Given the description of an element on the screen output the (x, y) to click on. 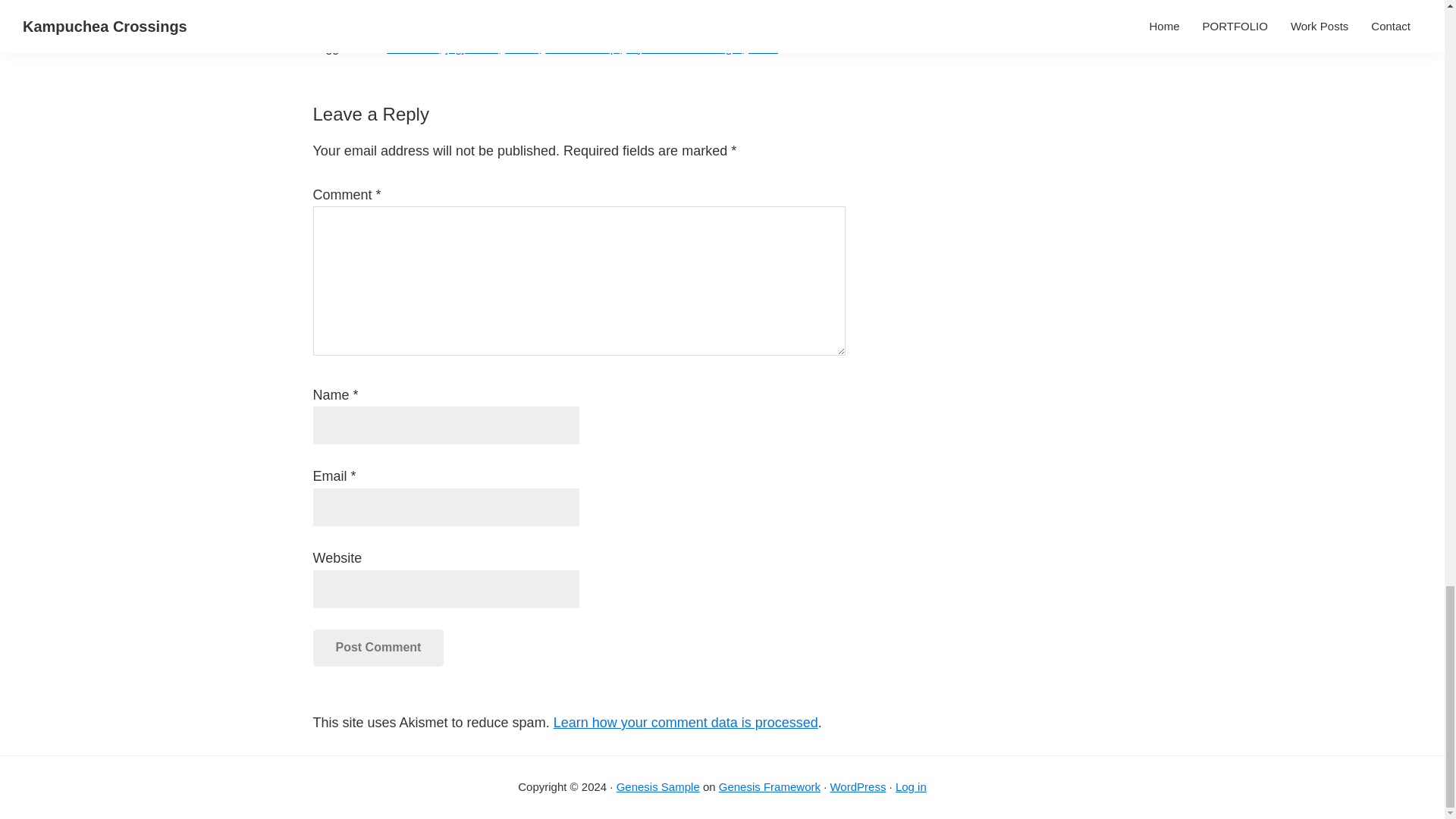
Post Comment (378, 647)
royal tombs of imogiri (683, 47)
travel (762, 47)
Learn how your comment data is processed (685, 722)
Travels (401, 28)
mount merapi (582, 47)
jogjakarta (471, 47)
kraton (521, 47)
Post Comment (378, 647)
indonesia (413, 47)
